Given the description of an element on the screen output the (x, y) to click on. 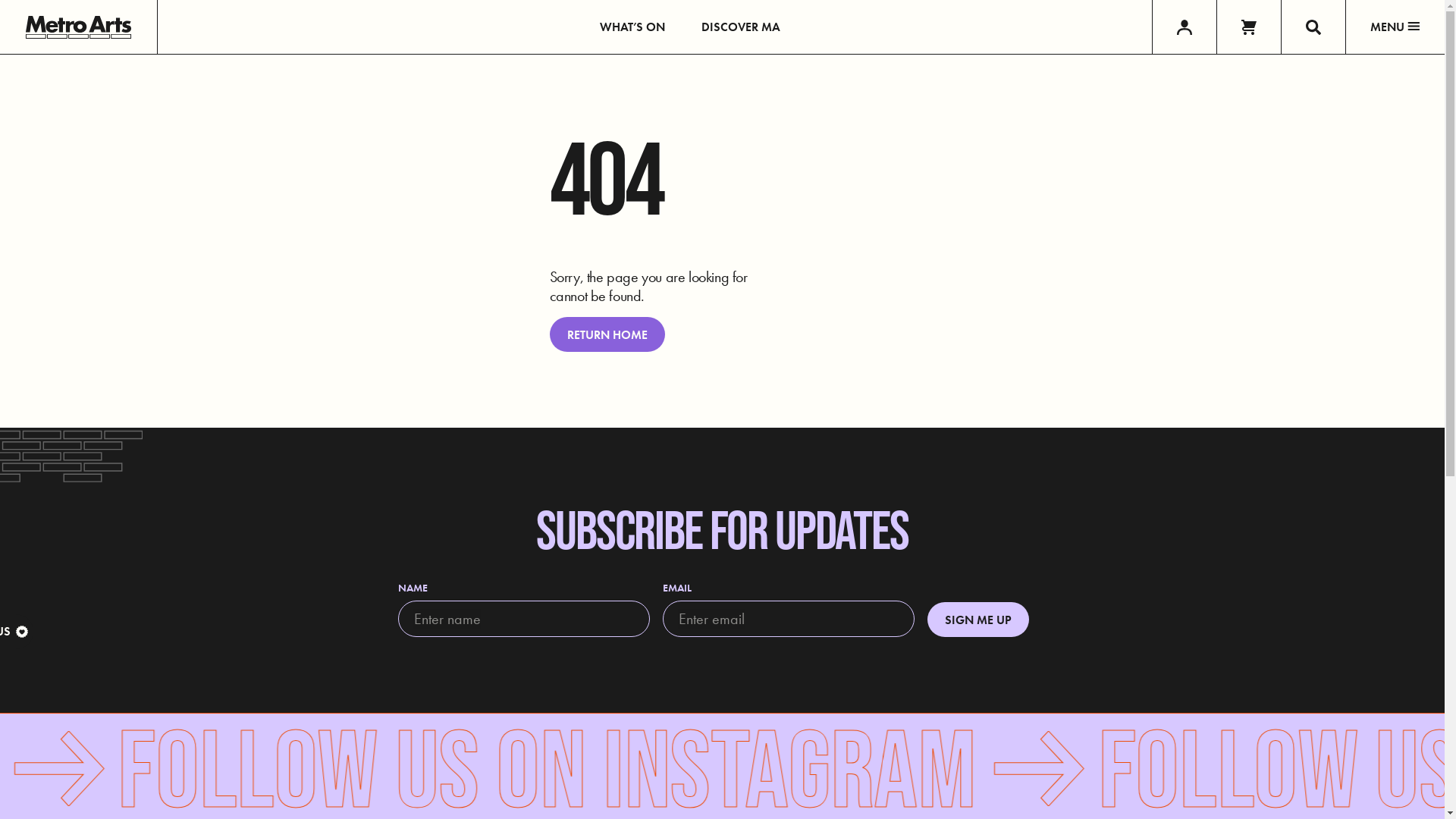
Site Search Element type: hover (1312, 26)
Account Element type: hover (1183, 26)
Cart Element type: hover (1248, 26)
RETURN HOME Element type: text (606, 333)
DISCOVER MA Element type: text (740, 26)
Metro Arts Element type: hover (78, 26)
SIGN ME UP Element type: text (978, 619)
MENU Element type: text (1394, 26)
